Given the description of an element on the screen output the (x, y) to click on. 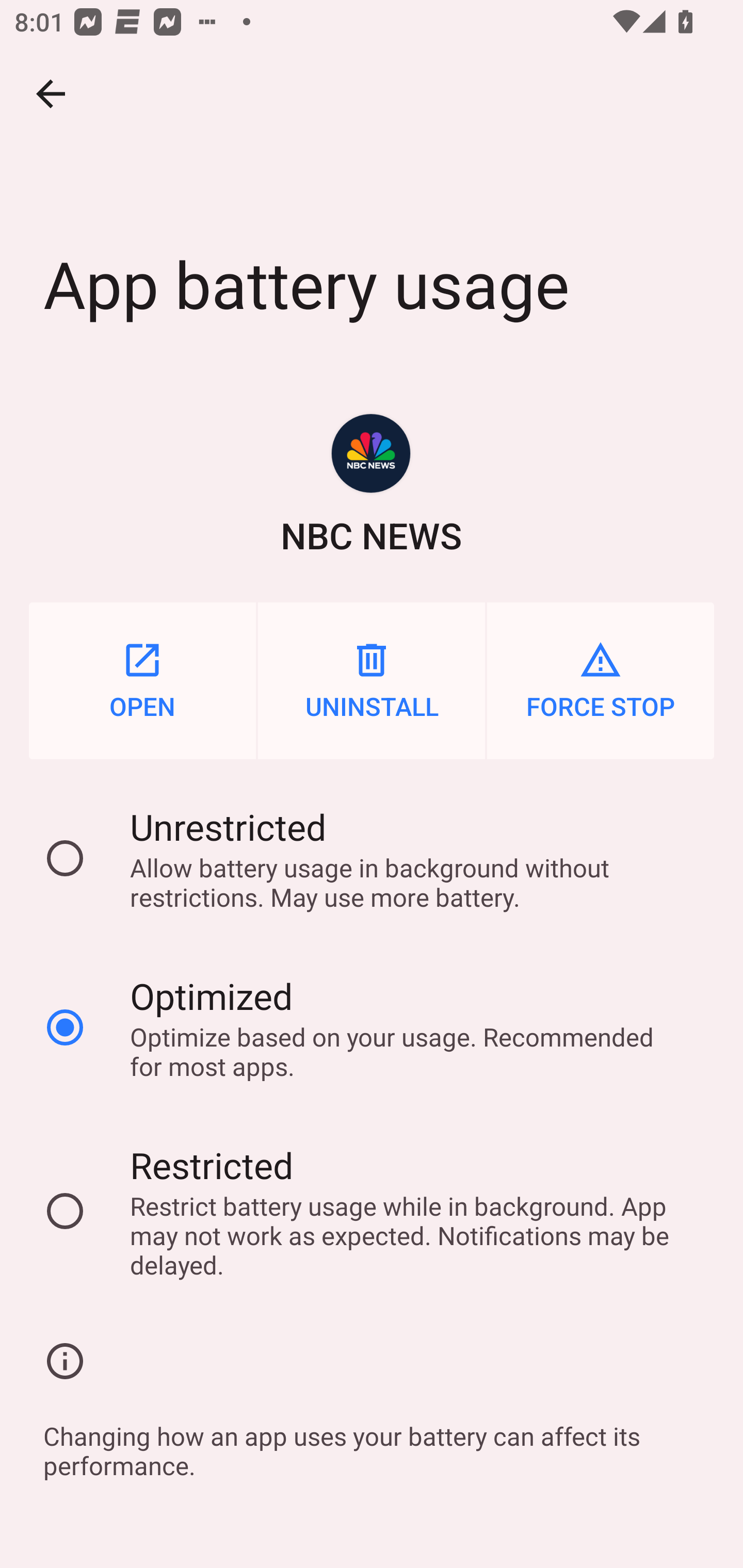
Navigate up (50, 93)
OPEN (141, 680)
UNINSTALL (371, 680)
FORCE STOP (600, 680)
